Given the description of an element on the screen output the (x, y) to click on. 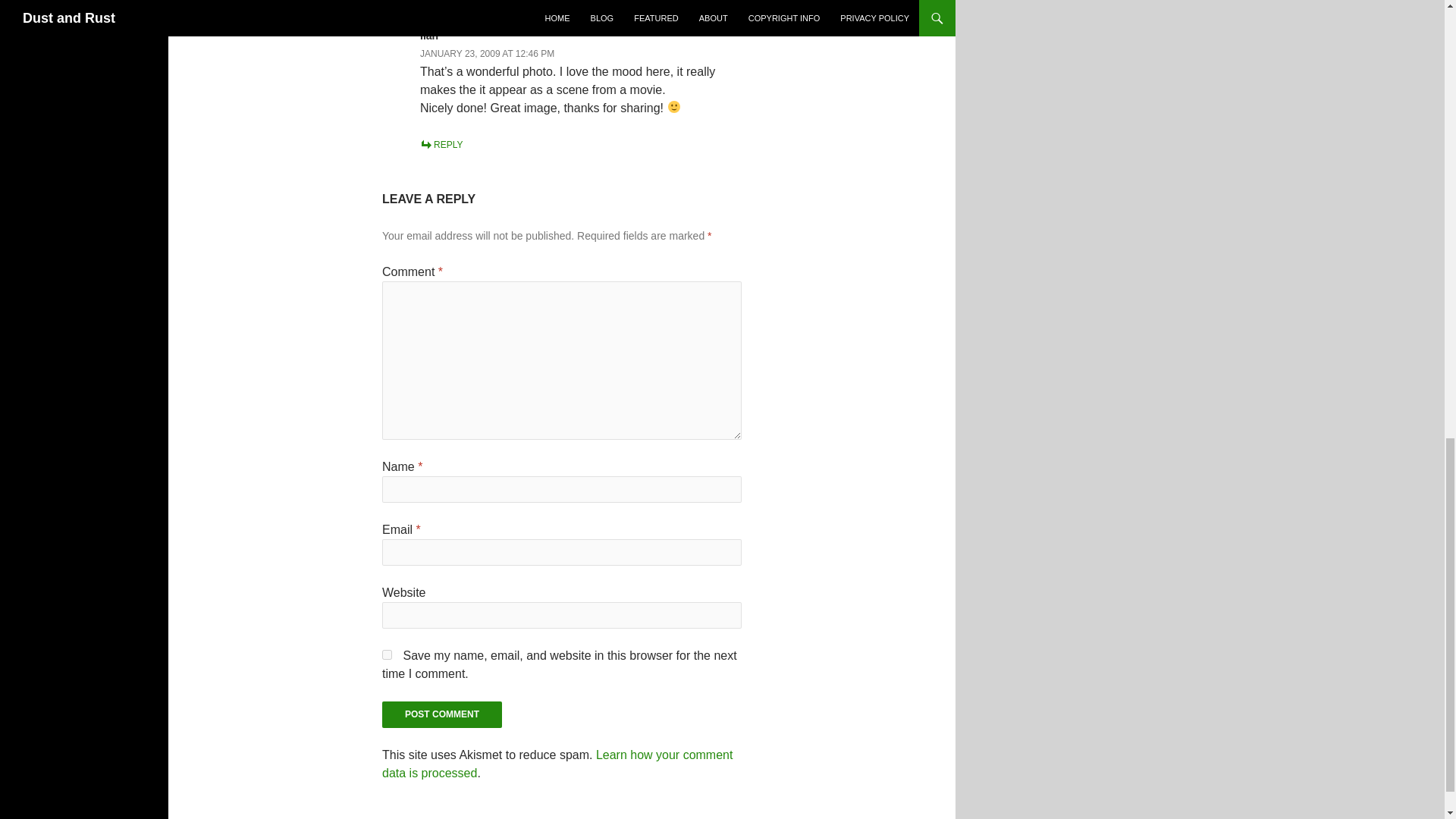
JANUARY 23, 2009 AT 12:46 PM (487, 53)
yes (386, 655)
Post Comment (441, 714)
REPLY (441, 144)
Learn how your comment data is processed (556, 763)
Post Comment (441, 714)
Ilan (429, 35)
